Given the description of an element on the screen output the (x, y) to click on. 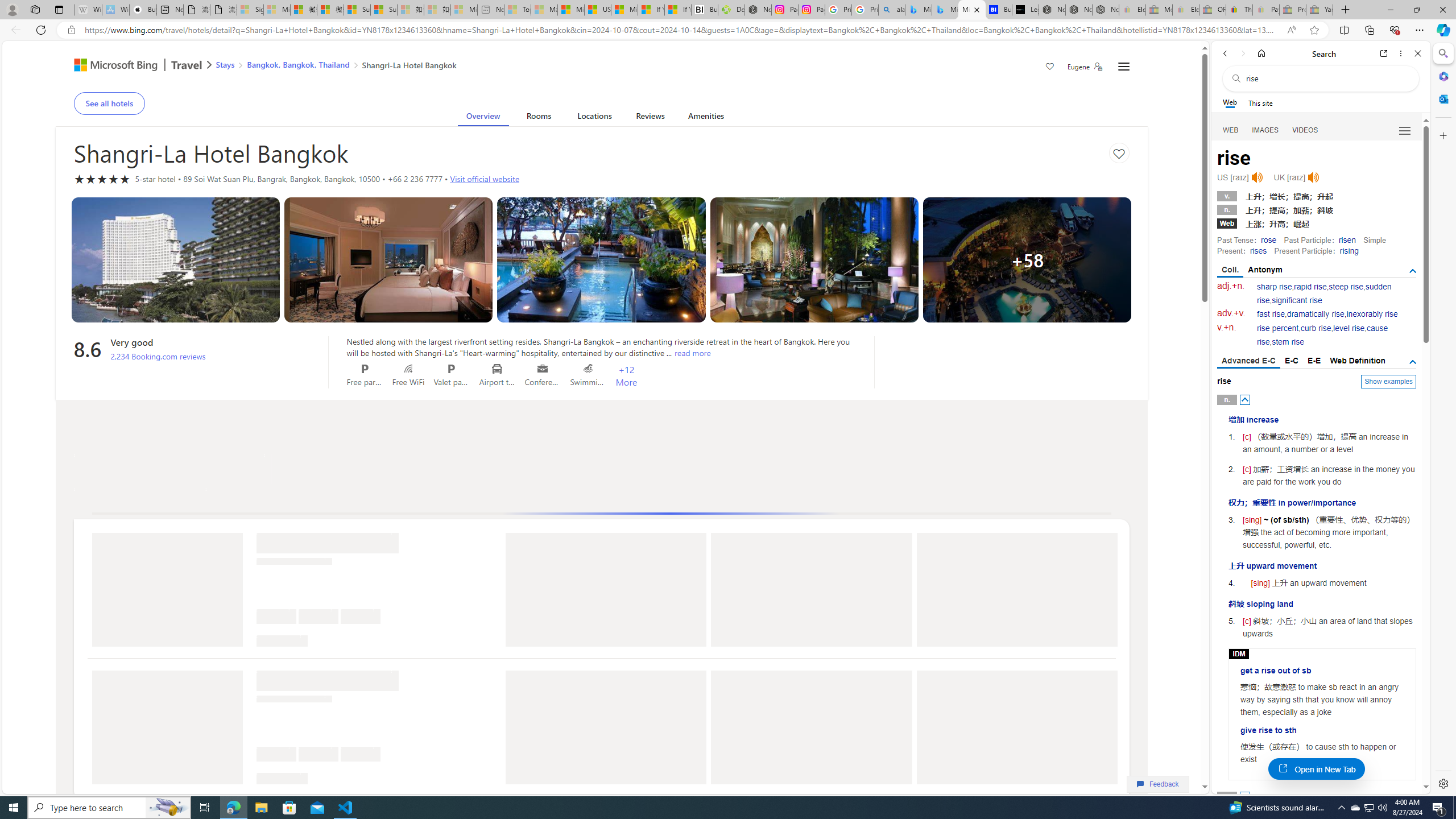
Visit official website (484, 178)
Class: msft-travel-logo (186, 64)
Sign in to your Microsoft account - Sleeping (249, 9)
Marine life - MSN - Sleeping (543, 9)
